Given the description of an element on the screen output the (x, y) to click on. 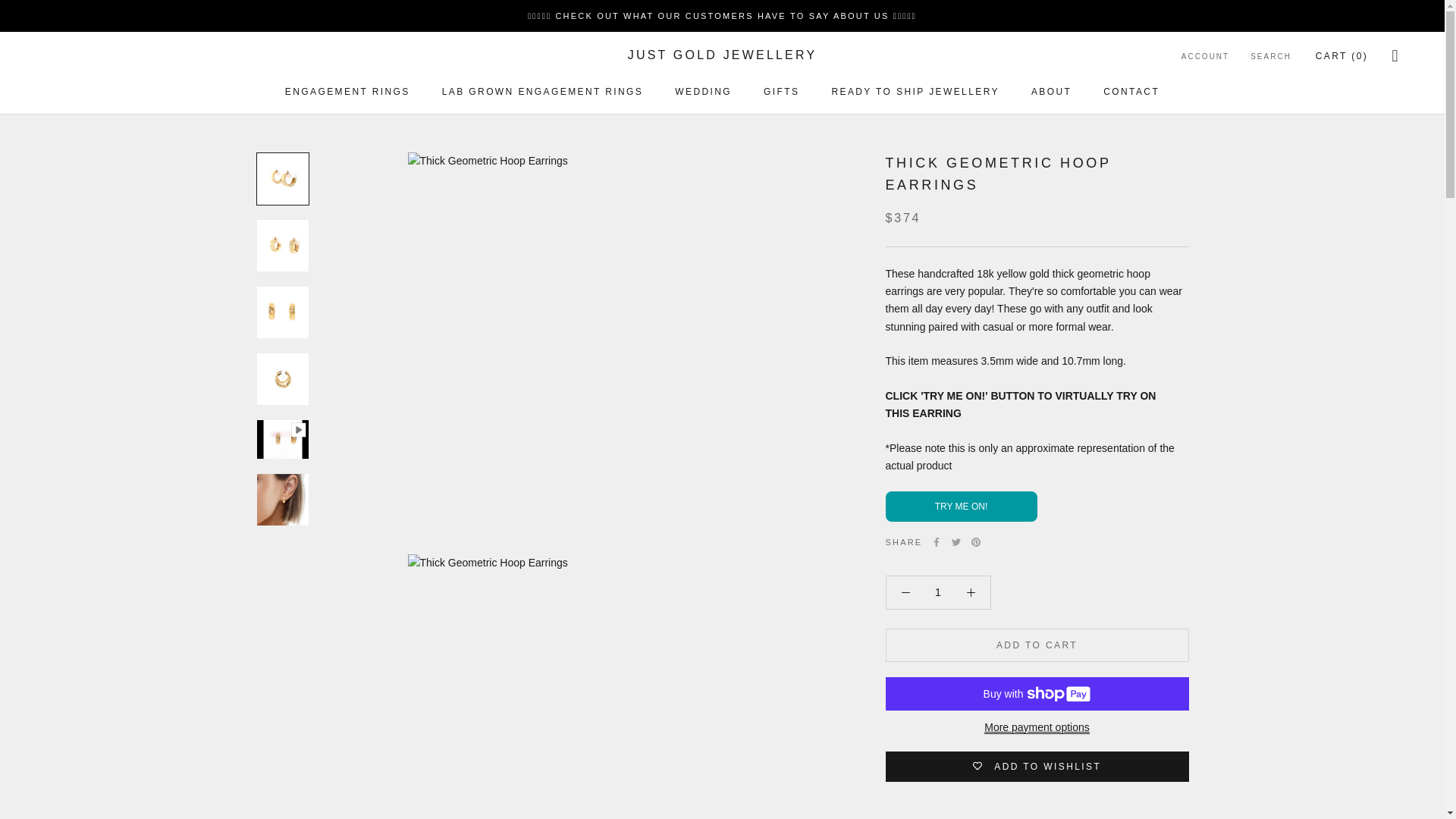
1 (938, 592)
